Given the description of an element on the screen output the (x, y) to click on. 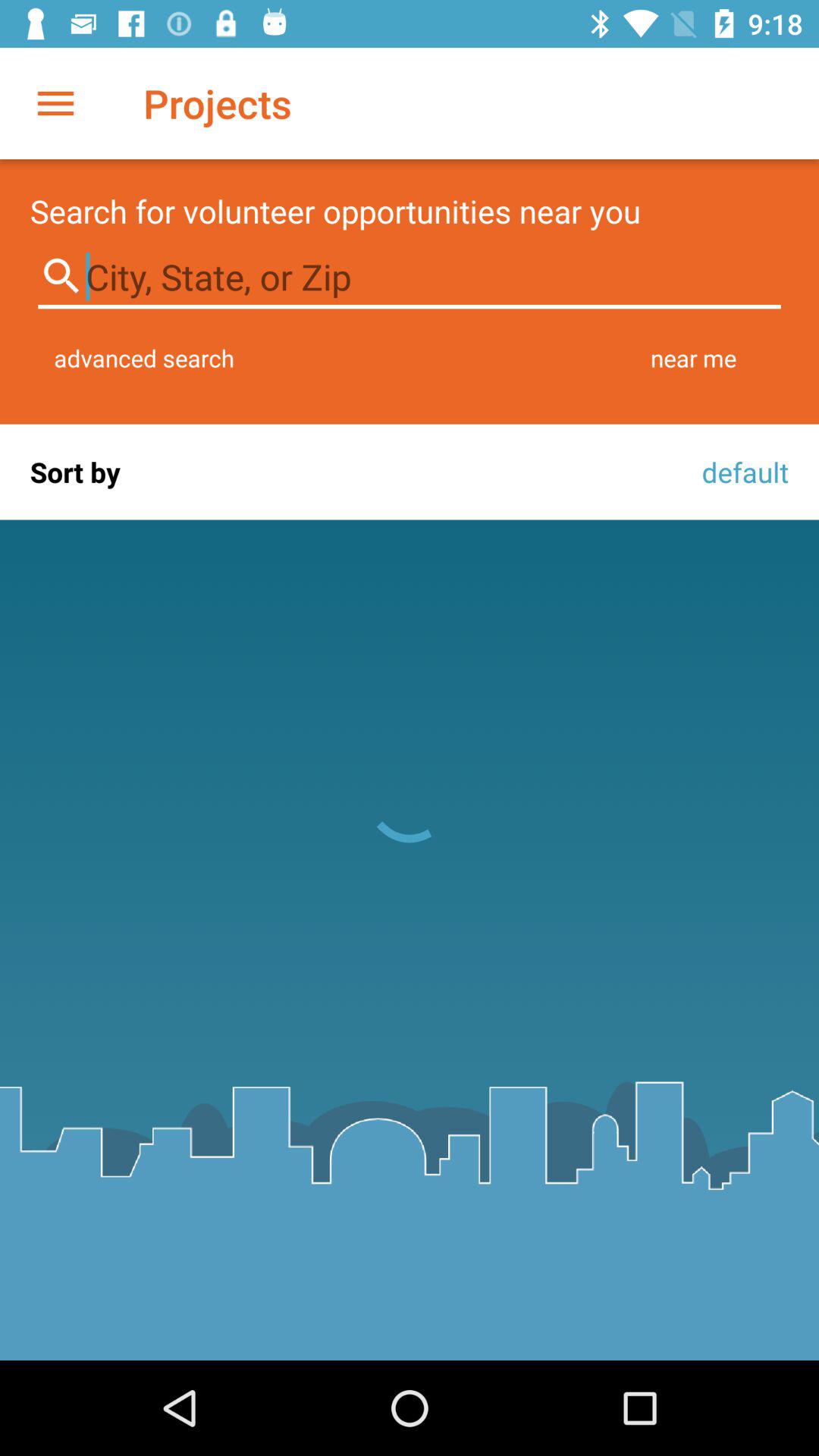
turn on icon next to advanced search (692, 358)
